Given the description of an element on the screen output the (x, y) to click on. 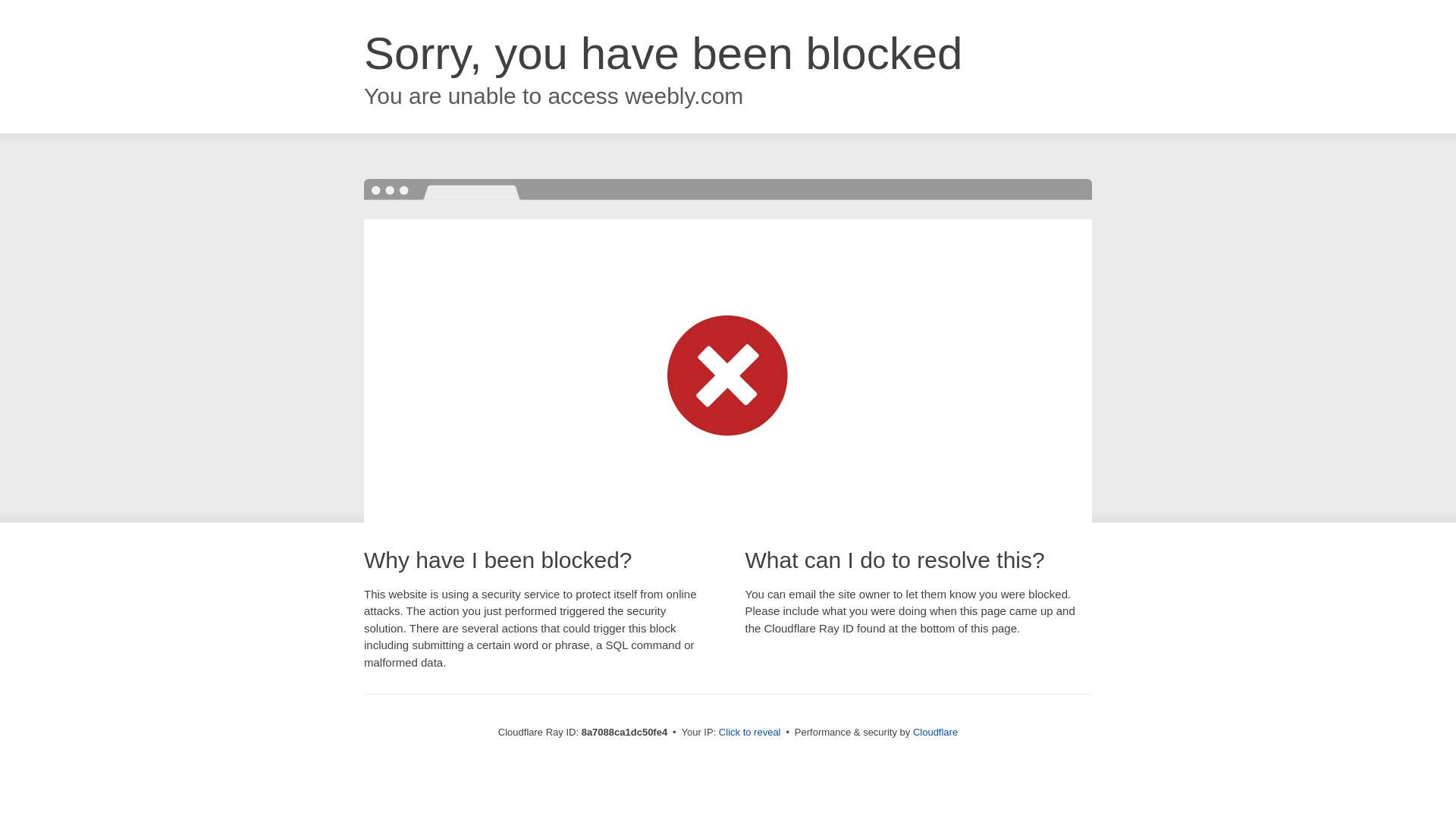
Click to reveal (749, 732)
Cloudflare (935, 731)
